Given the description of an element on the screen output the (x, y) to click on. 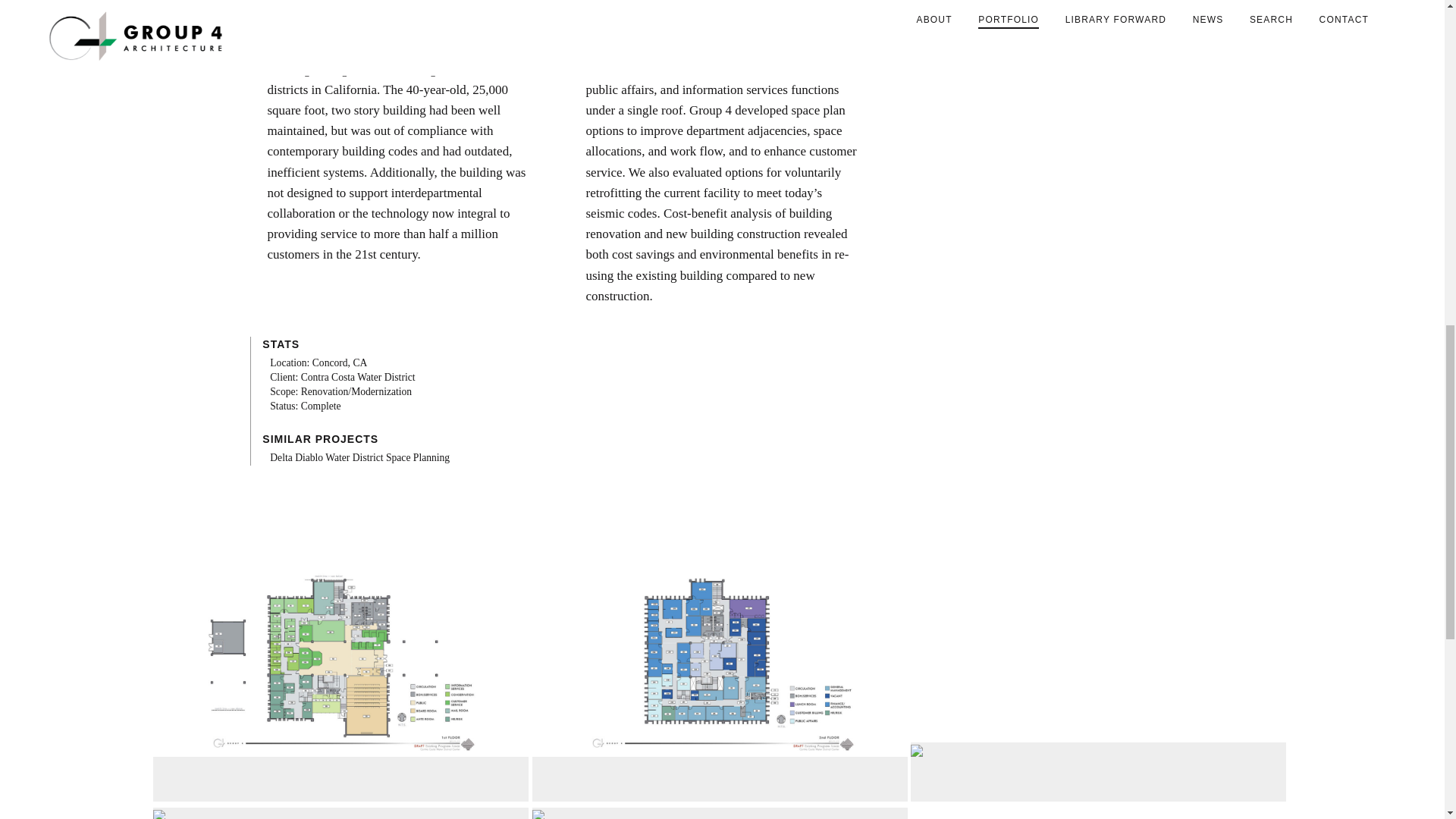
Second floor program plan (719, 790)
First floor program plan (340, 790)
Model: structural interventions (1075, 790)
